Given the description of an element on the screen output the (x, y) to click on. 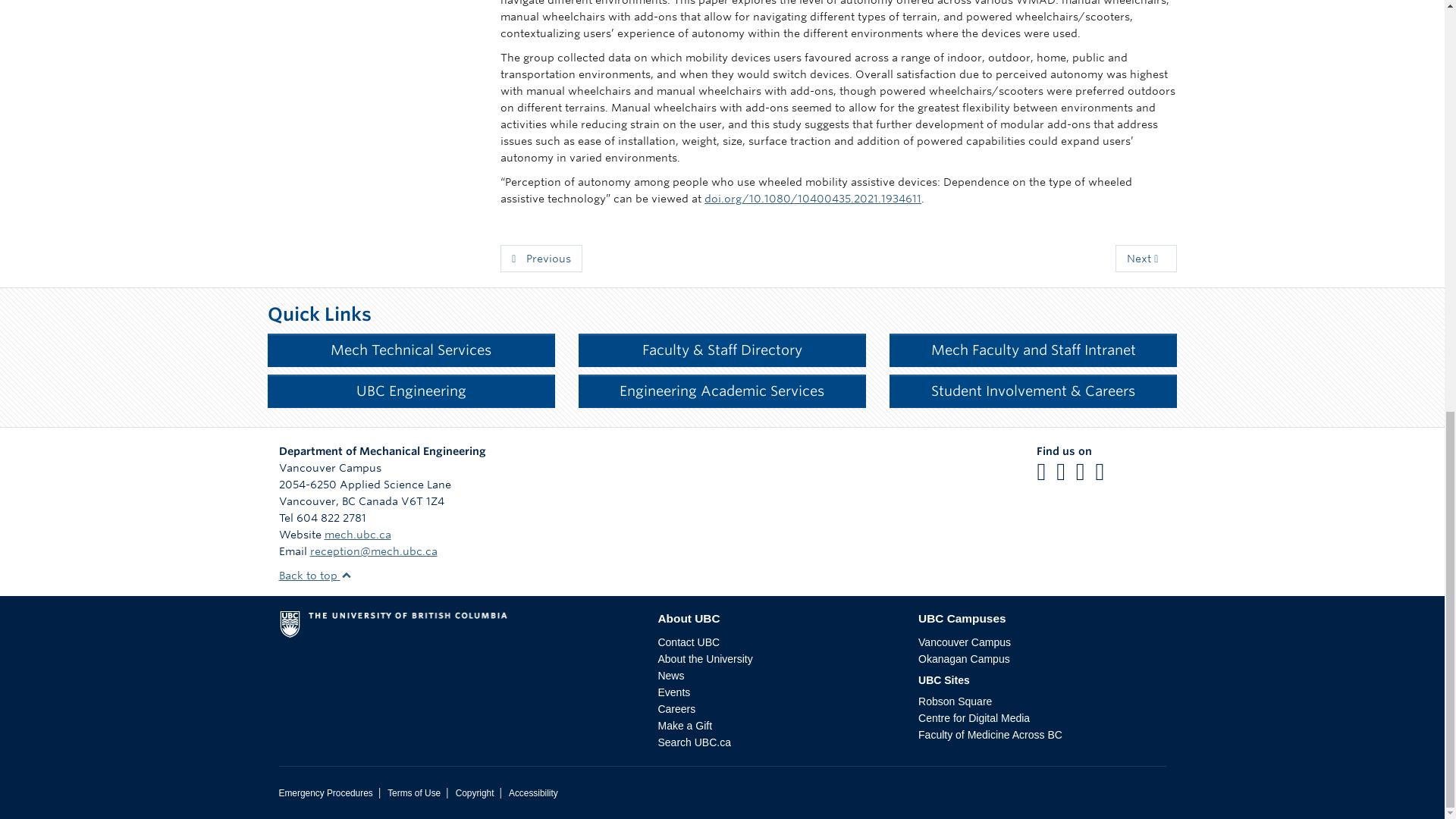
Terms of Use (414, 792)
Emergency Procedures (325, 792)
Accessibility (532, 792)
UBC Copyright (475, 792)
Back to top (315, 575)
